Given the description of an element on the screen output the (x, y) to click on. 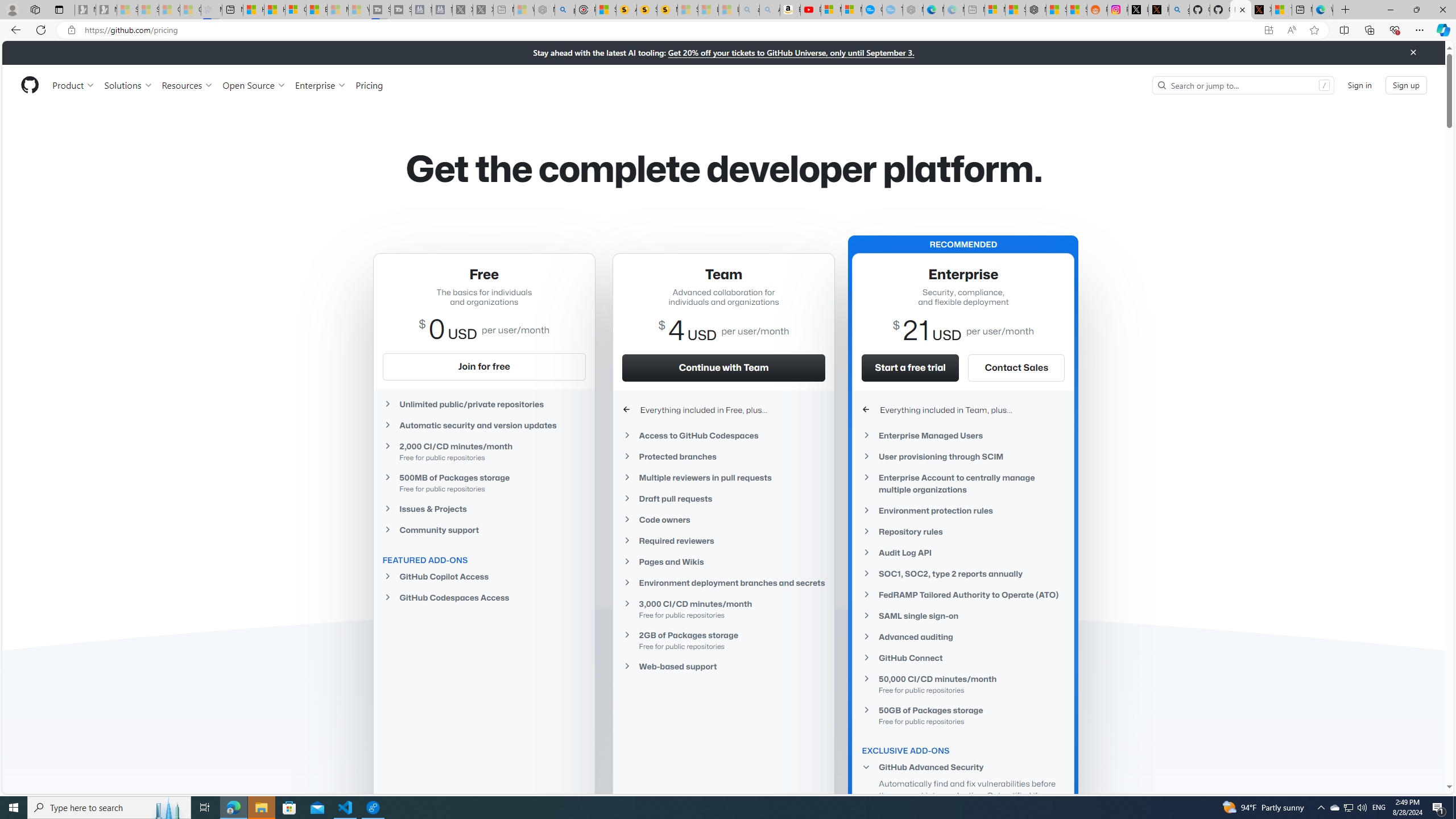
Overview (296, 9)
Contact Sales (1015, 367)
Solutions (128, 84)
Environment protection rules (963, 510)
Everything included in Free, plus... (723, 409)
GitHub Codespaces Access (483, 597)
Access to GitHub Codespaces (723, 435)
Continue with Team (723, 367)
Product (74, 84)
Pricing (368, 84)
